Given the description of an element on the screen output the (x, y) to click on. 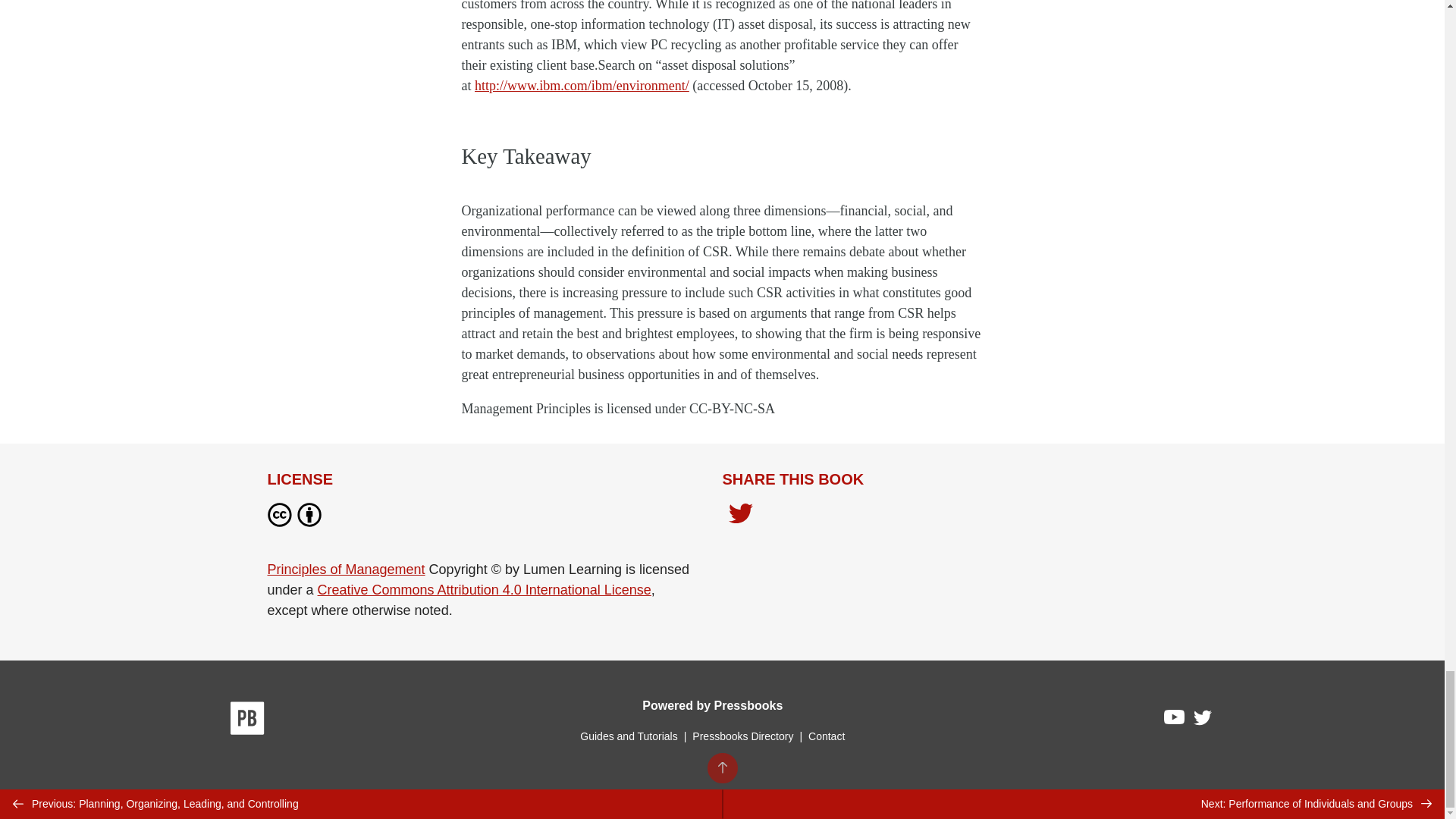
Powered by Pressbooks (712, 705)
Principles of Management (345, 569)
Contact (826, 736)
Pressbooks on YouTube (1174, 721)
Share on Twitter (740, 514)
Pressbooks Directory (742, 736)
Share on Twitter (740, 517)
Creative Commons Attribution 4.0 International License (483, 589)
Guides and Tutorials (627, 736)
